Given the description of an element on the screen output the (x, y) to click on. 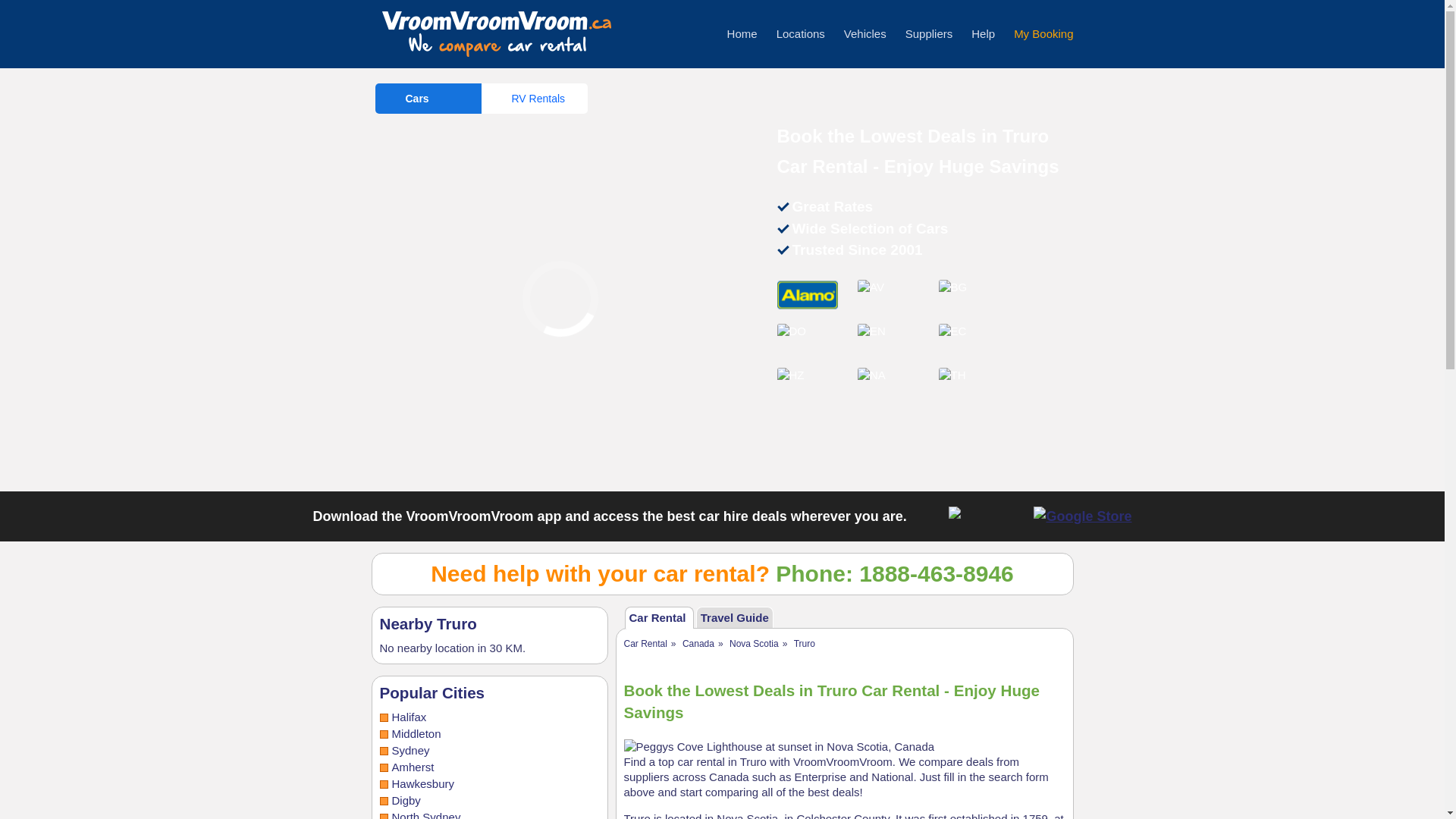
Middleton (416, 733)
Hawkesbury (422, 783)
Home (741, 33)
Cars (427, 98)
Digby (405, 799)
Amherst (412, 766)
Halifax (408, 716)
Locations (800, 33)
RV Rentals (533, 98)
Google App (1082, 516)
